Given the description of an element on the screen output the (x, y) to click on. 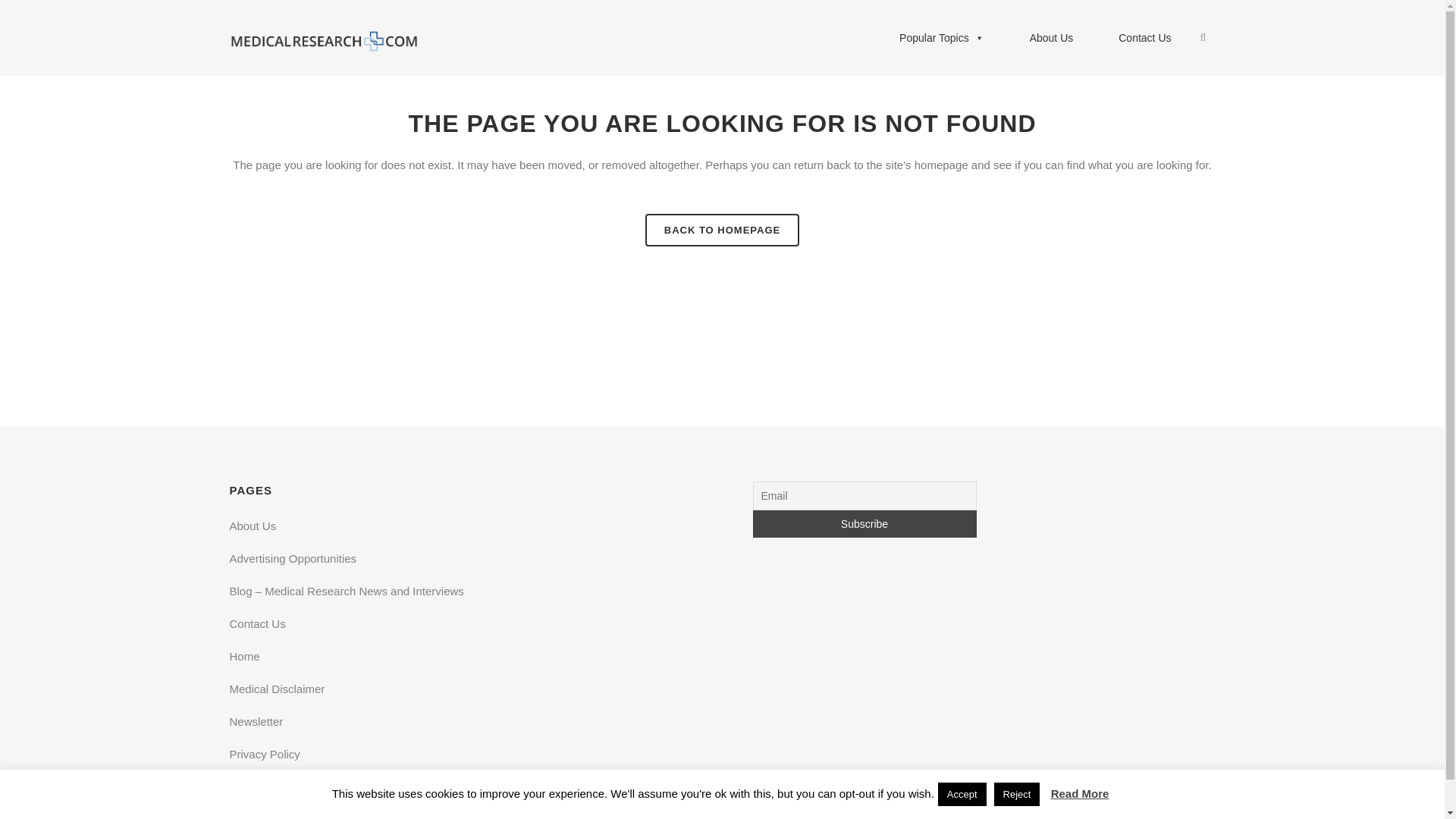
About Us (1051, 37)
Contact Us (1144, 37)
Subscribe (863, 523)
Popular Topics (941, 37)
